Given the description of an element on the screen output the (x, y) to click on. 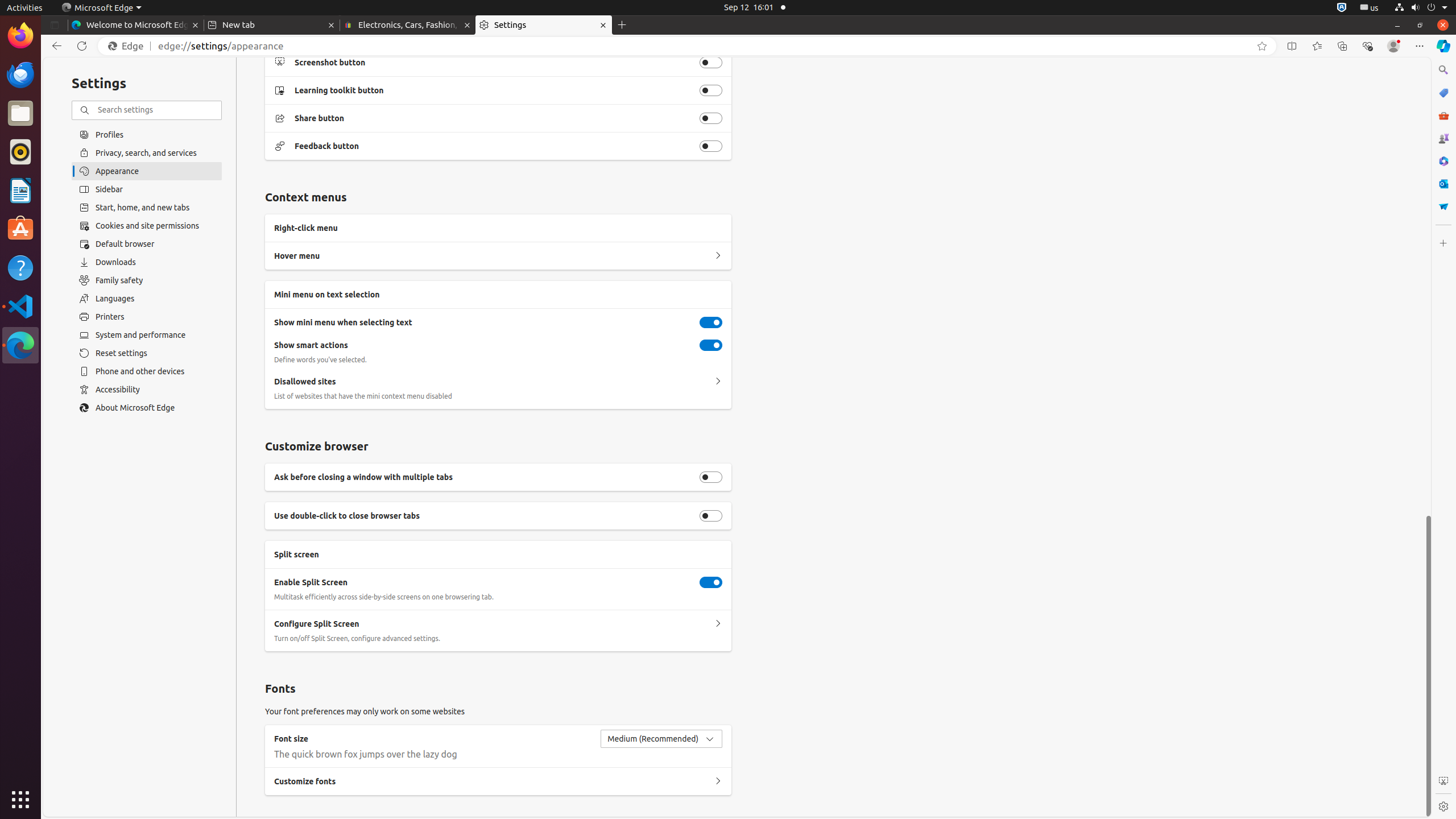
Outlook Element type: push-button (1443, 183)
Ask before closing a window with multiple tabs Element type: check-box (710, 476)
Ubuntu Software Element type: push-button (20, 229)
Microsoft Shopping Element type: push-button (1443, 92)
Drop Element type: push-button (1443, 206)
